Given the description of an element on the screen output the (x, y) to click on. 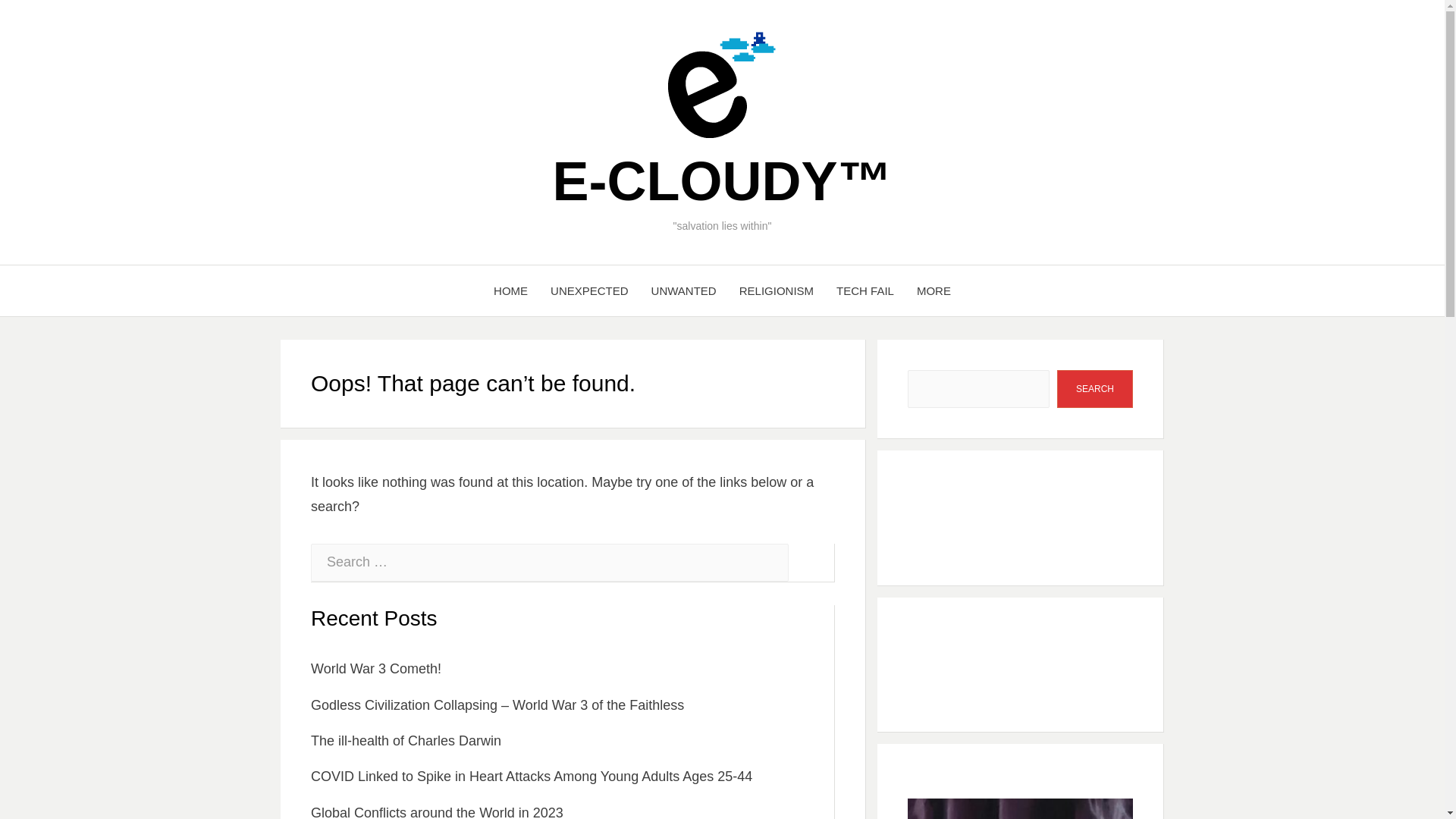
TECH FAIL (865, 290)
RELIGIONISM (776, 290)
UNWANTED (684, 290)
MORE (933, 290)
HOME (509, 290)
Global Conflicts around the World in 2023 (437, 812)
World War 3 Cometh! (376, 668)
The ill-health of Charles Darwin (405, 740)
Search for: (550, 562)
